Given the description of an element on the screen output the (x, y) to click on. 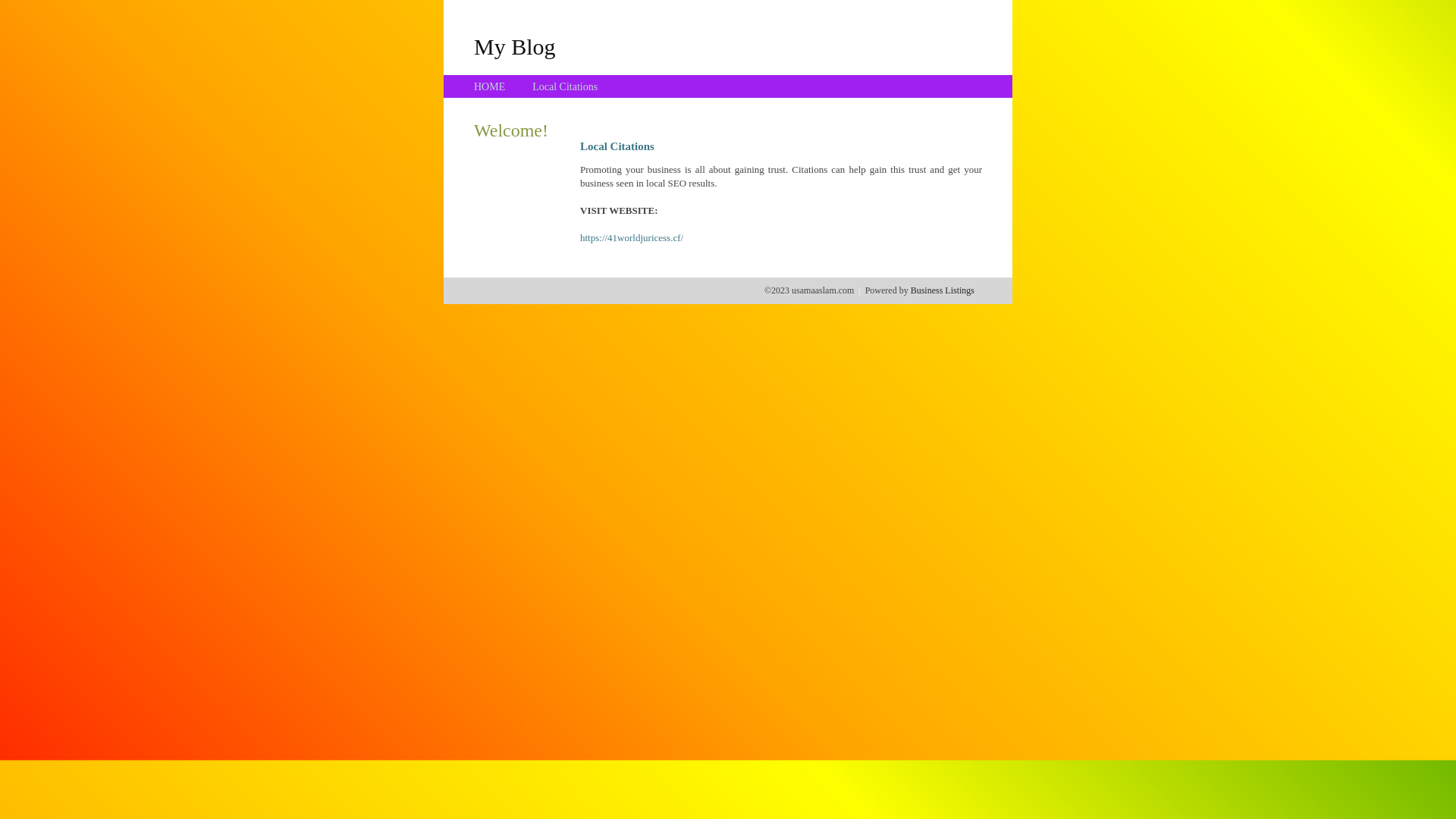
My Blog Element type: text (514, 46)
HOME Element type: text (489, 86)
https://41worldjuricess.cf/ Element type: text (631, 237)
Local Citations Element type: text (564, 86)
Business Listings Element type: text (942, 290)
